Given the description of an element on the screen output the (x, y) to click on. 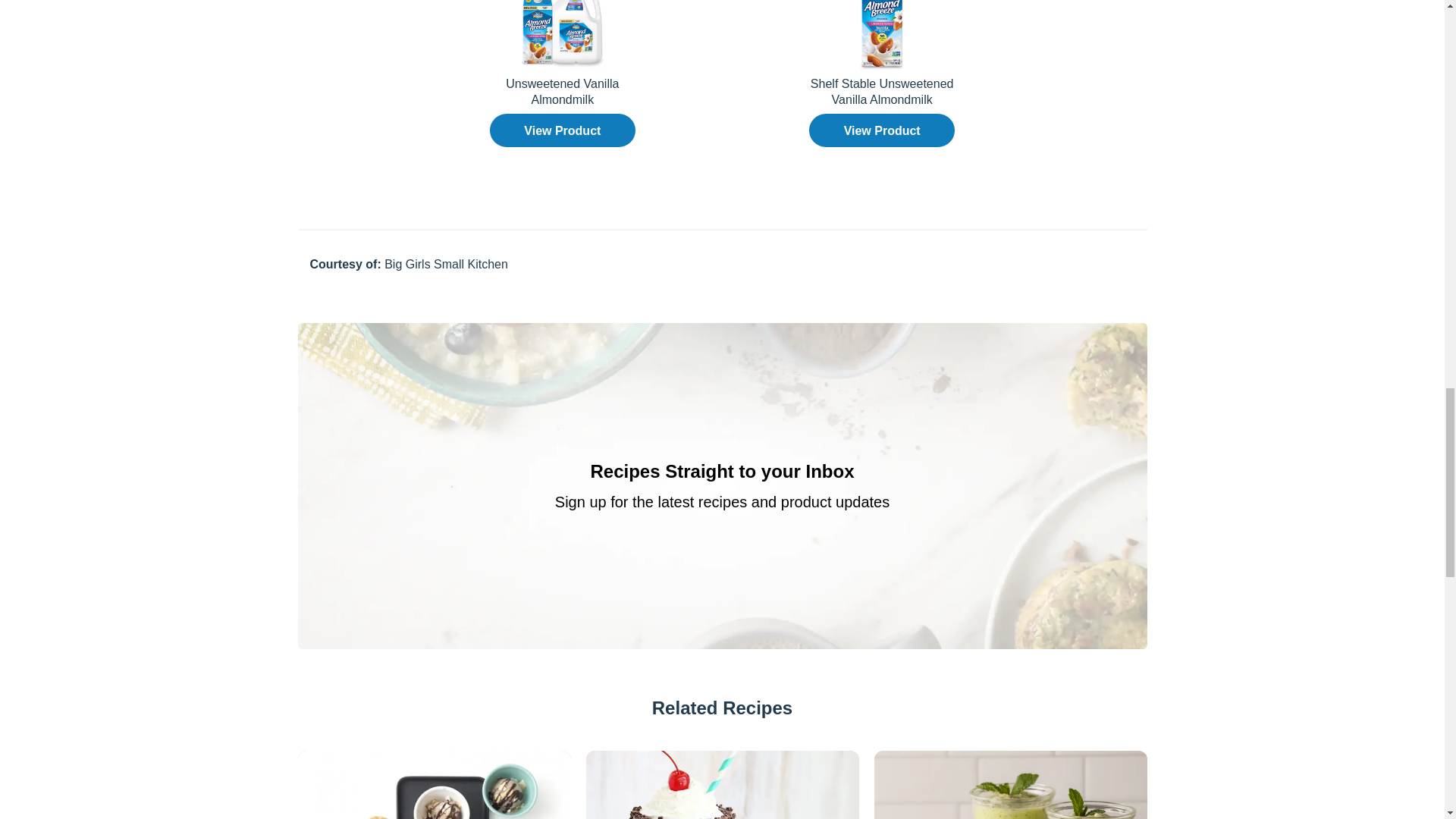
View Product (561, 130)
View Product (882, 130)
